Given the description of an element on the screen output the (x, y) to click on. 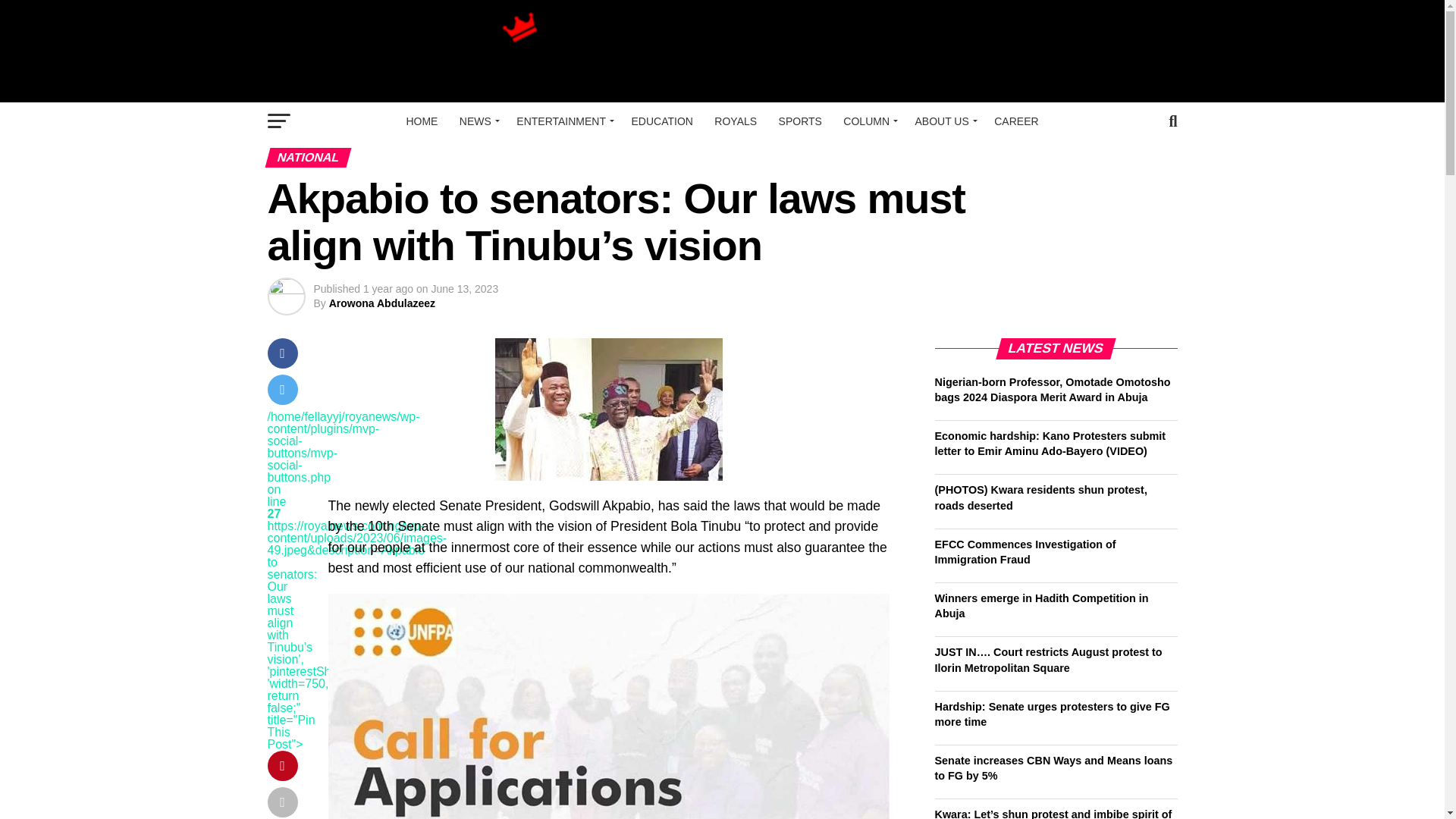
NEWS (476, 121)
HOME (421, 121)
Posts by Arowona Abdulazeez (382, 303)
